Given the description of an element on the screen output the (x, y) to click on. 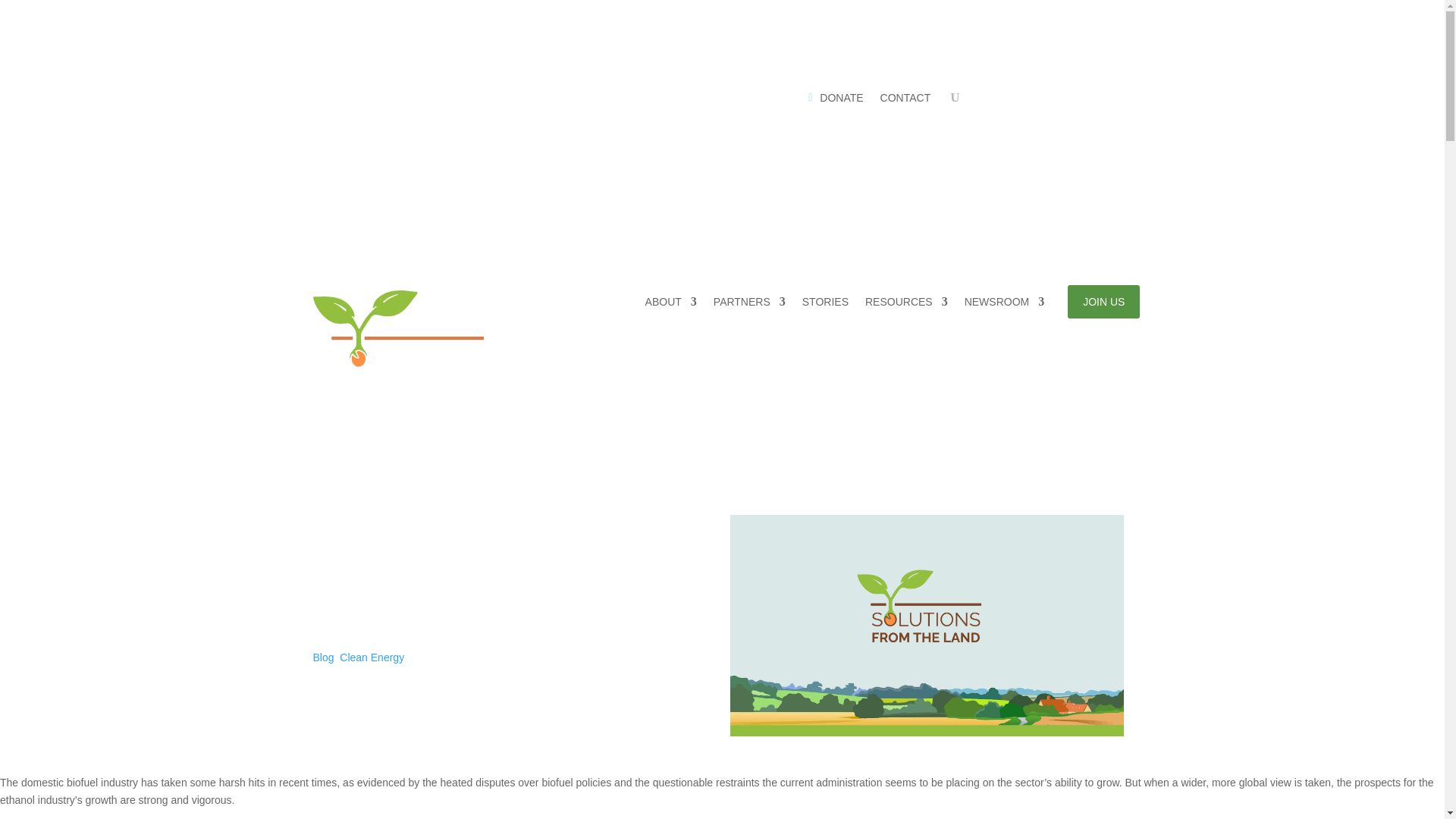
Blog (323, 657)
JOIN US (1103, 301)
Follow on X (1088, 98)
RESOURCES (905, 307)
STORIES (825, 307)
Clean Energy (371, 657)
Follow on Youtube (1118, 98)
DONATE (835, 100)
Follow on Facebook (1058, 98)
ABOUT (671, 307)
